Given the description of an element on the screen output the (x, y) to click on. 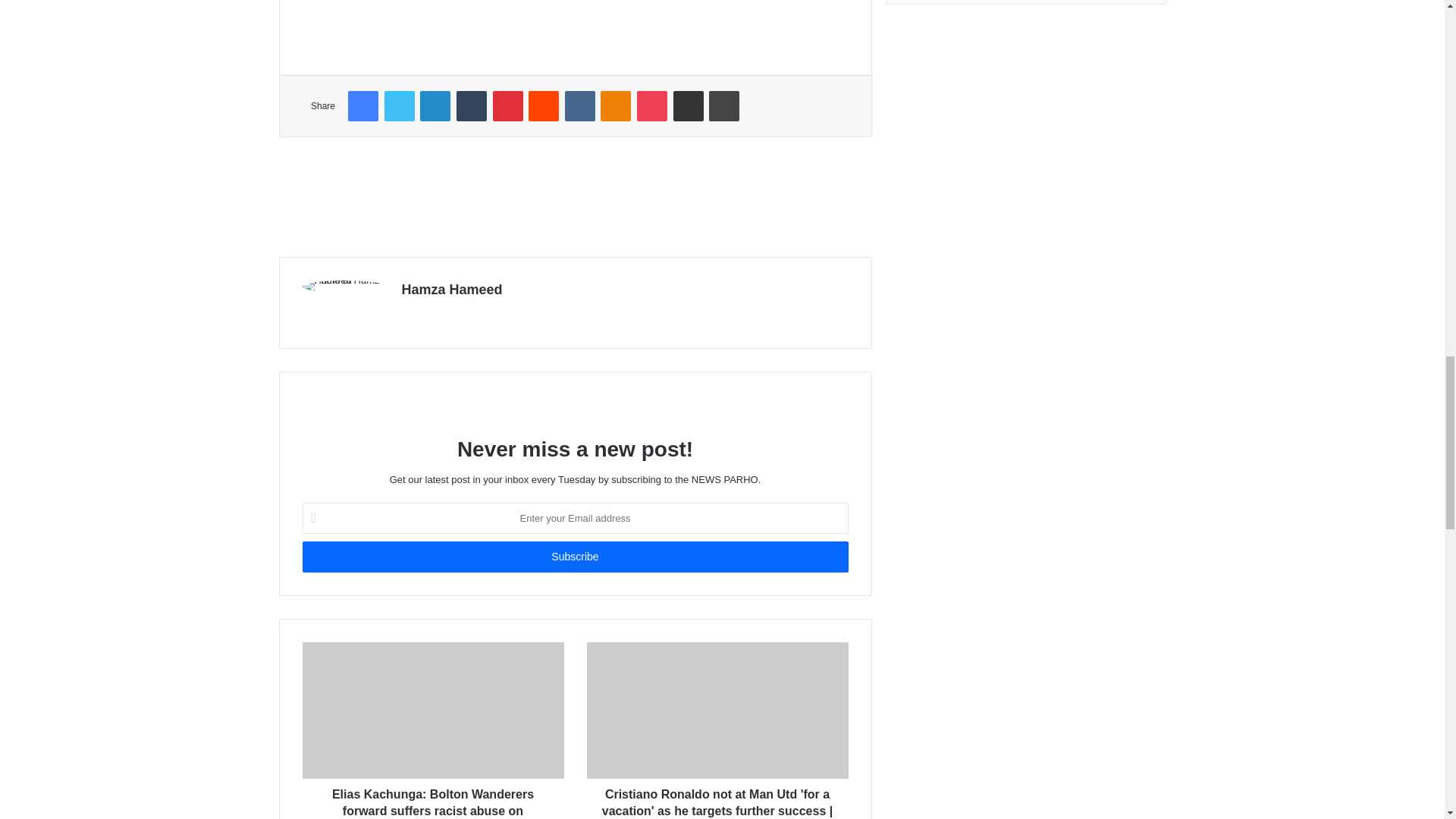
Subscribe (574, 556)
